Given the description of an element on the screen output the (x, y) to click on. 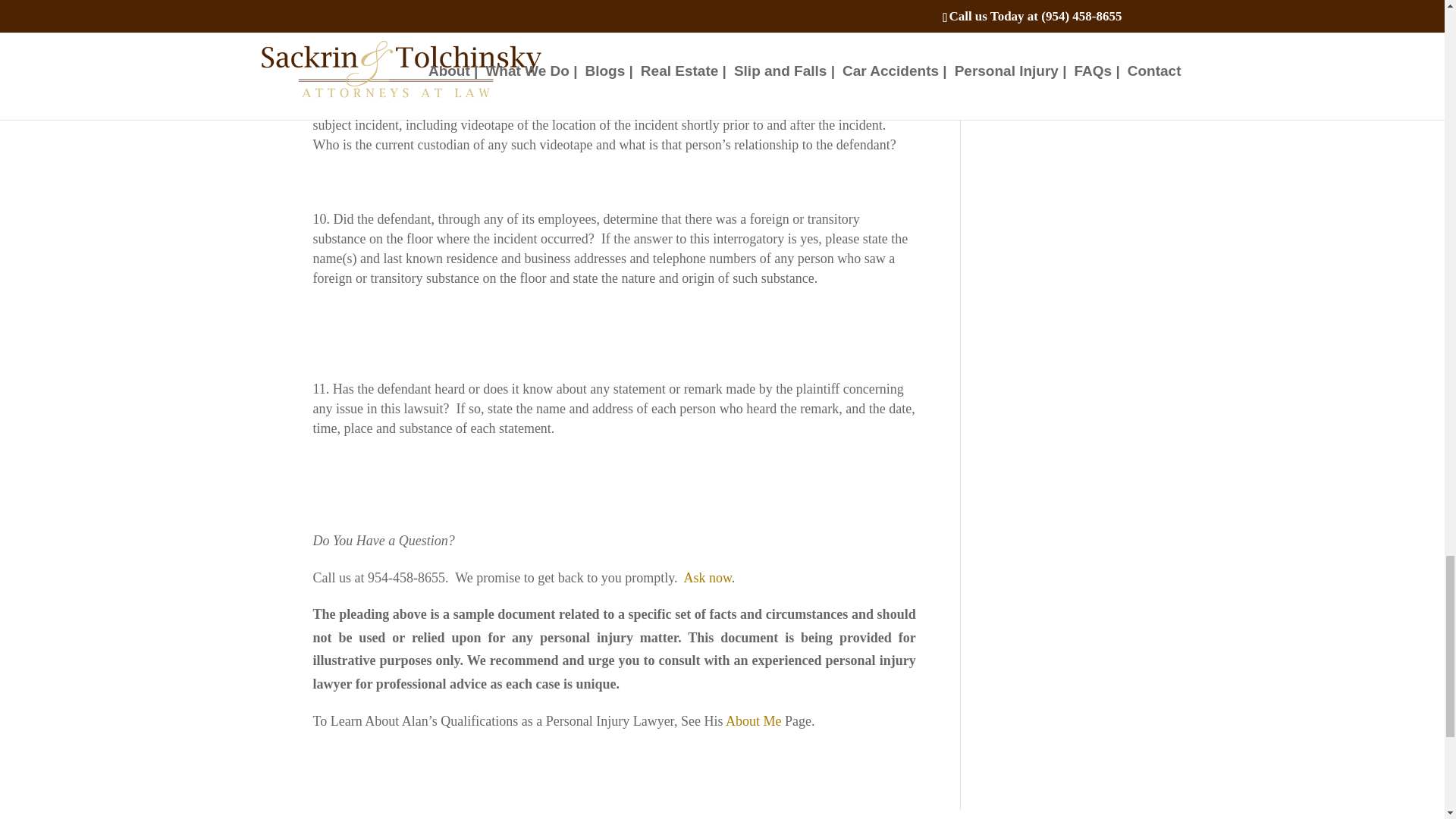
About Me (753, 720)
Ask now (708, 577)
